Given the description of an element on the screen output the (x, y) to click on. 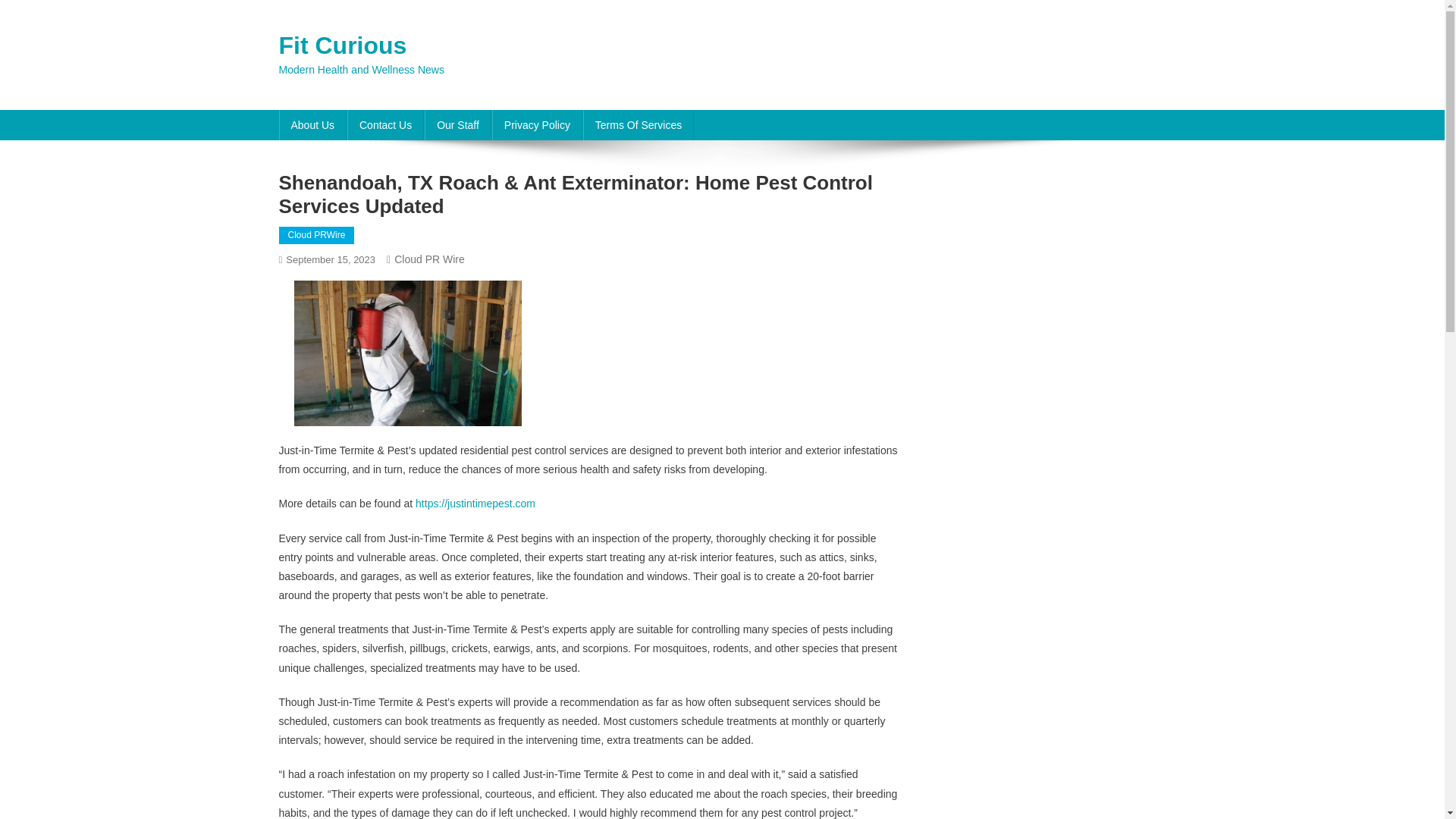
Cloud PR Wire (429, 259)
Search (1133, 135)
Terms Of Services (638, 124)
About Us (313, 124)
September 15, 2023 (330, 259)
Our Staff (458, 124)
Cloud PRWire (317, 235)
Contact Us (385, 124)
Fit Curious (343, 44)
Privacy Policy (537, 124)
